Given the description of an element on the screen output the (x, y) to click on. 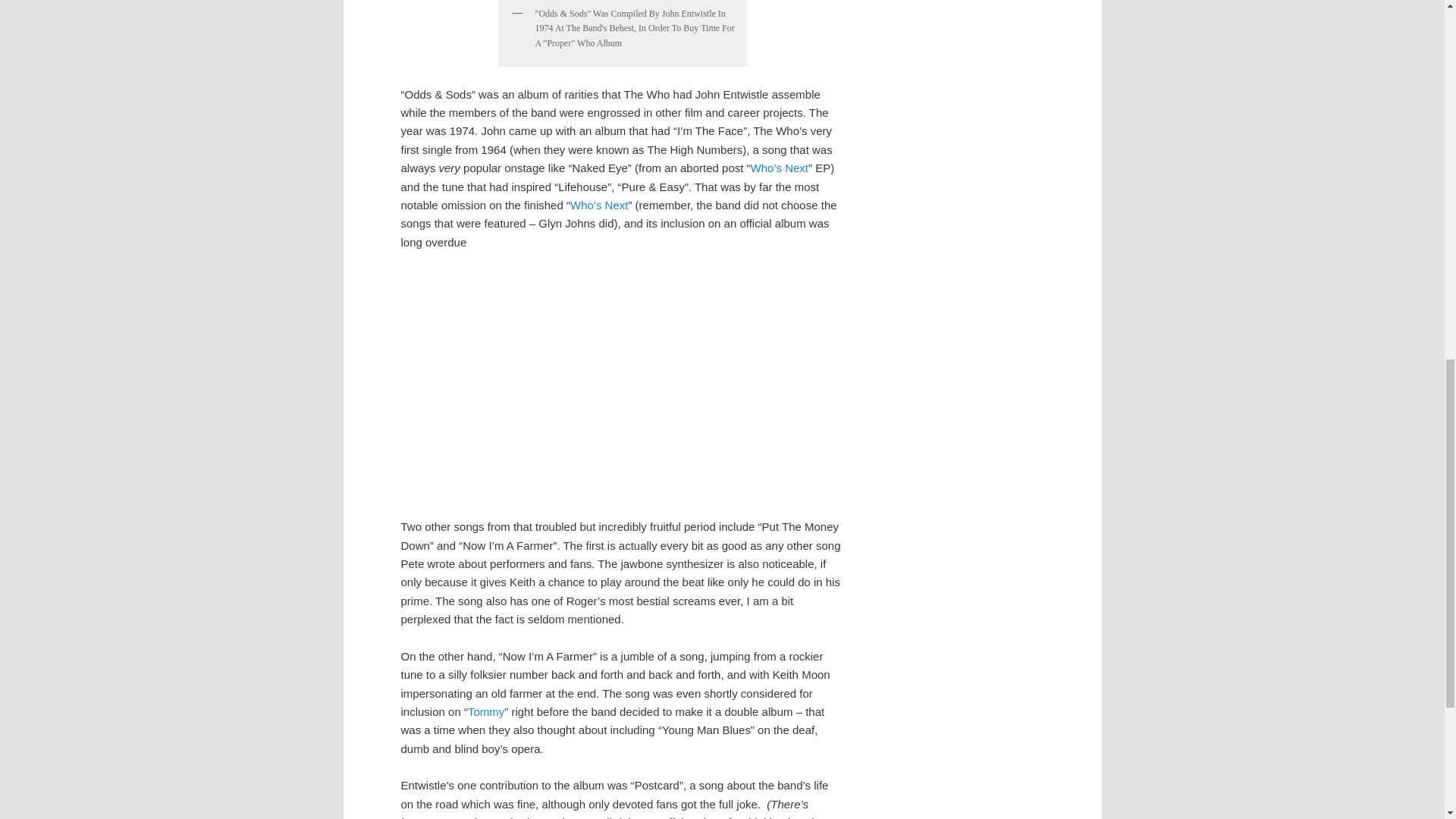
Tommy (485, 711)
